Given the description of an element on the screen output the (x, y) to click on. 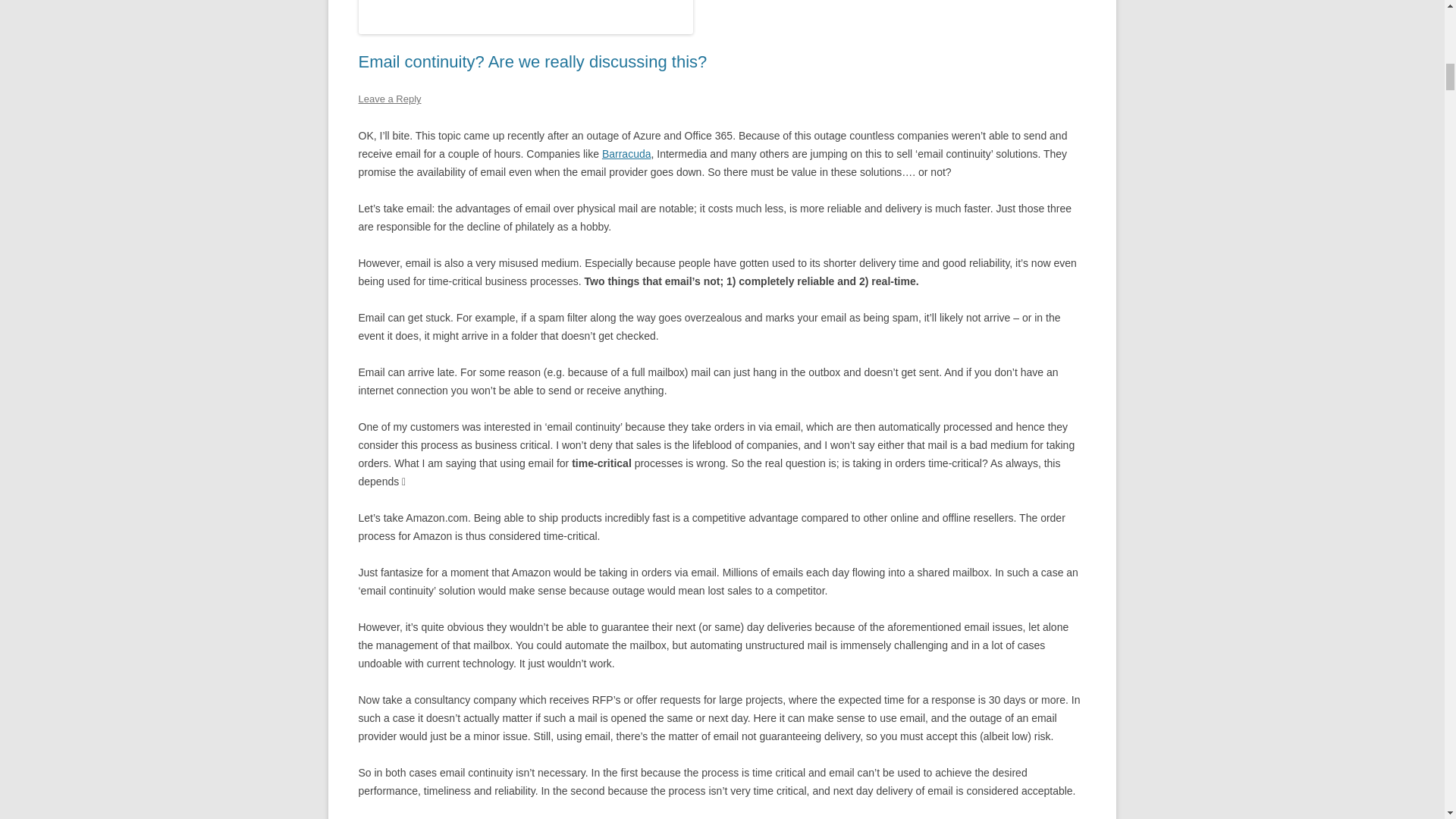
Email continuity? Are we really discussing this? (532, 61)
Barracuda (626, 153)
Leave a Reply (389, 98)
